Given the description of an element on the screen output the (x, y) to click on. 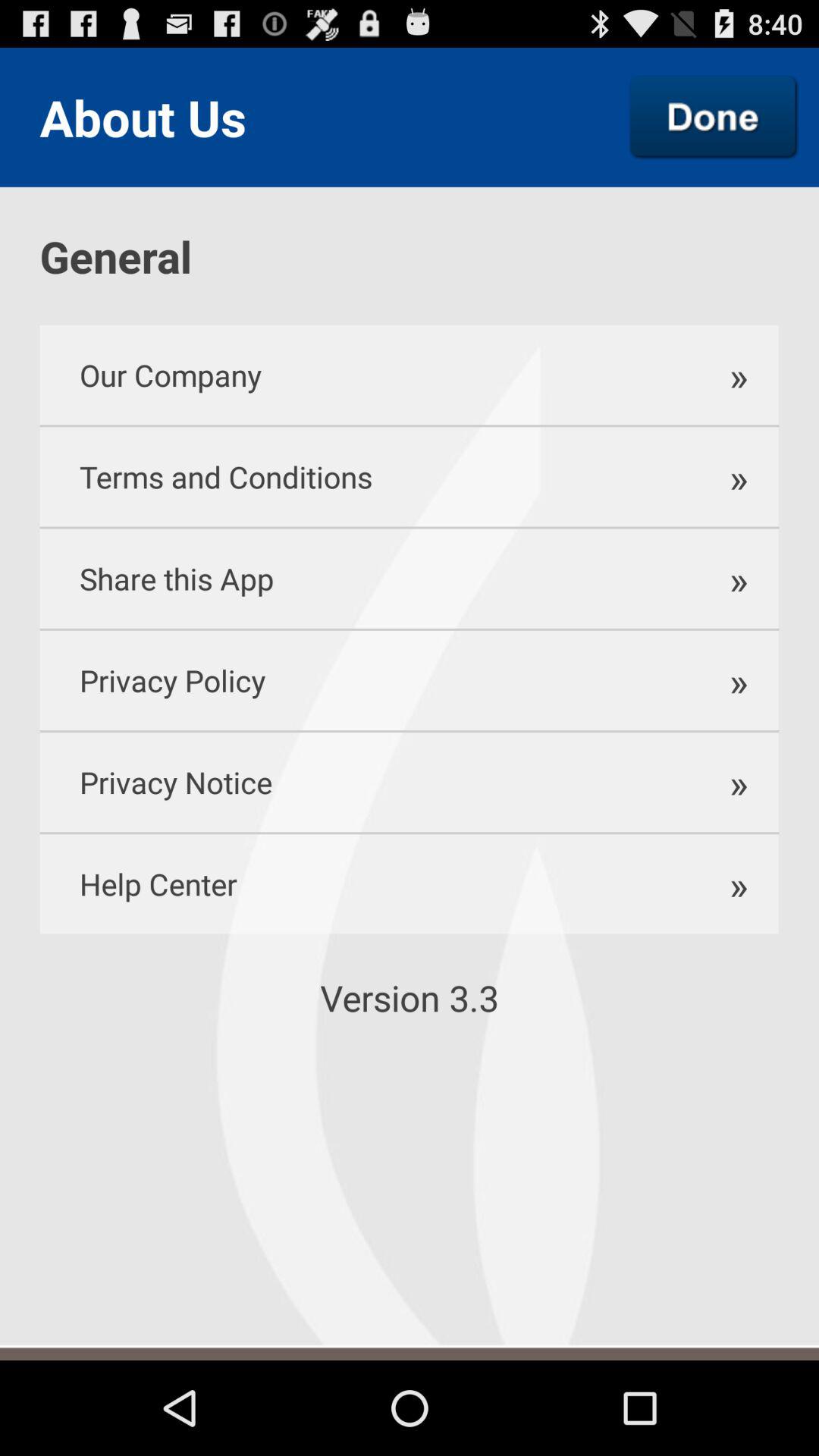
flip to the privacy notice item (361, 782)
